Given the description of an element on the screen output the (x, y) to click on. 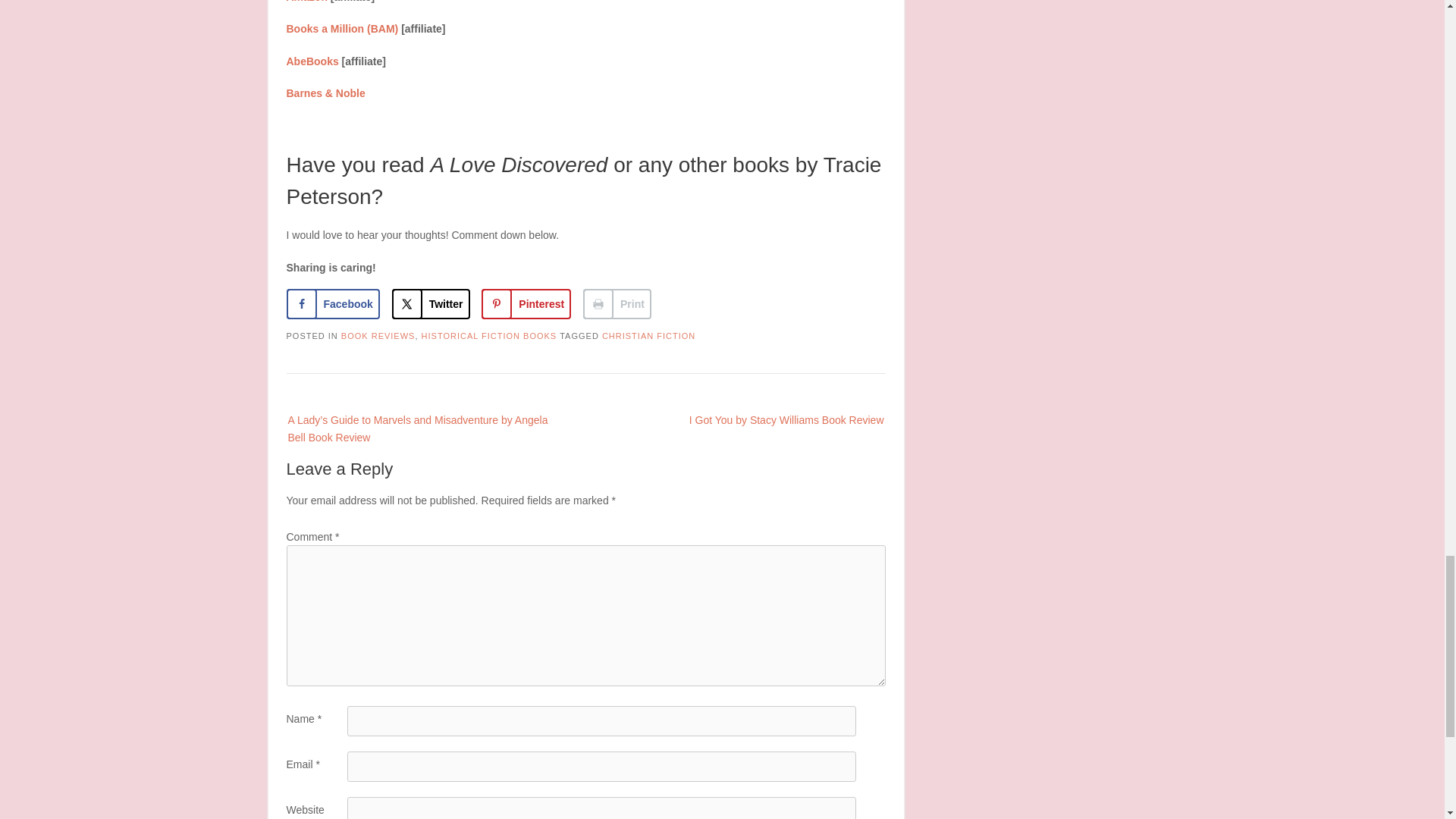
Amazon (306, 1)
Share on Facebook (333, 304)
Facebook (333, 304)
Twitter (430, 304)
Print (616, 304)
Pinterest (525, 304)
Print this webpage (616, 304)
AbeBooks (312, 61)
Save to Pinterest (525, 304)
Share on X (430, 304)
